Given the description of an element on the screen output the (x, y) to click on. 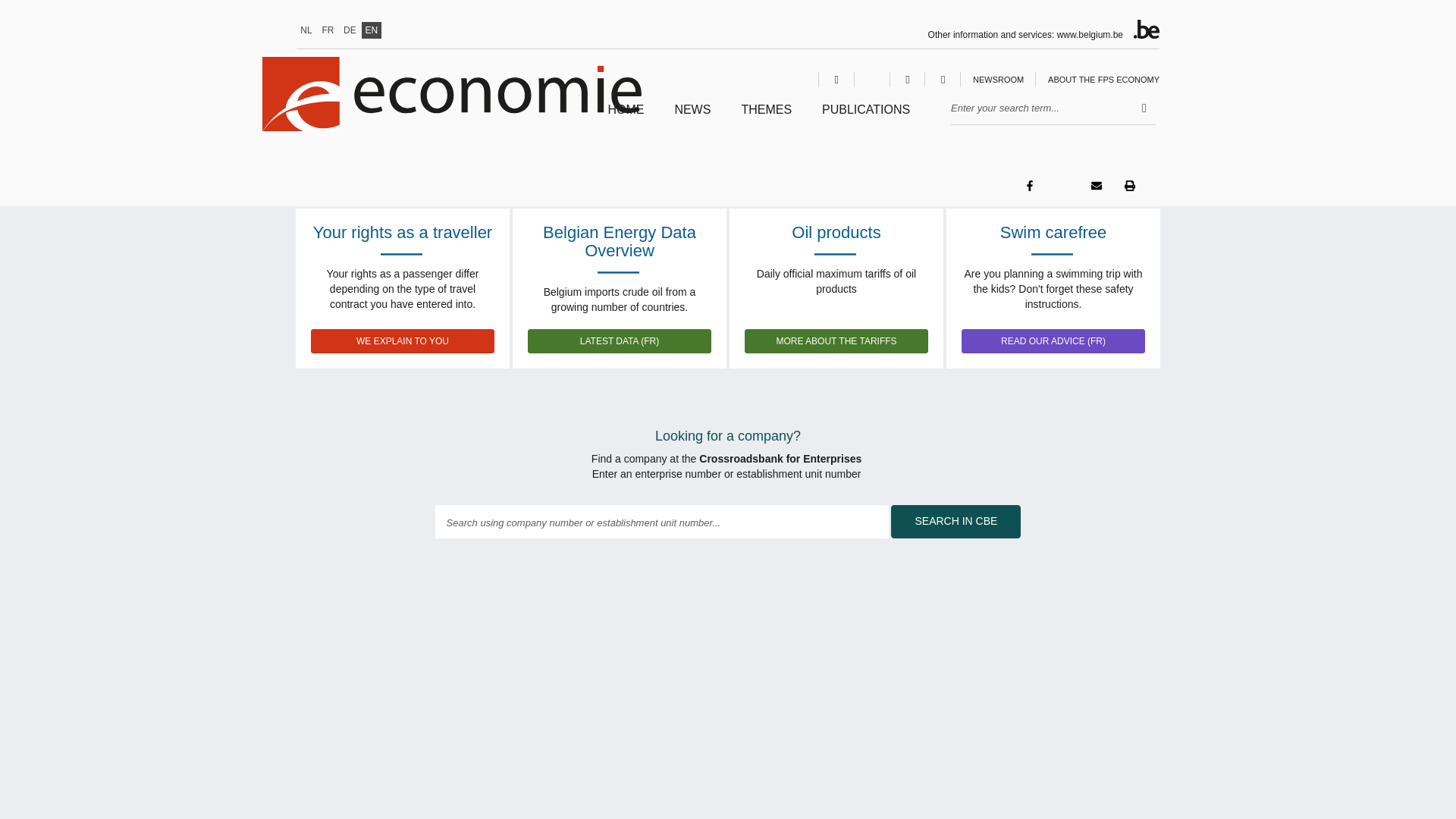
WE EXPLAIN TO YOU (403, 340)
FR (327, 30)
Home page economie.fgov.be (625, 113)
HOME (625, 113)
NL (306, 30)
ABOUT THE FPS ECONOMY (1103, 79)
DE (349, 30)
EN (370, 30)
NEWSROOM (997, 79)
NEWS (692, 113)
